Given the description of an element on the screen output the (x, y) to click on. 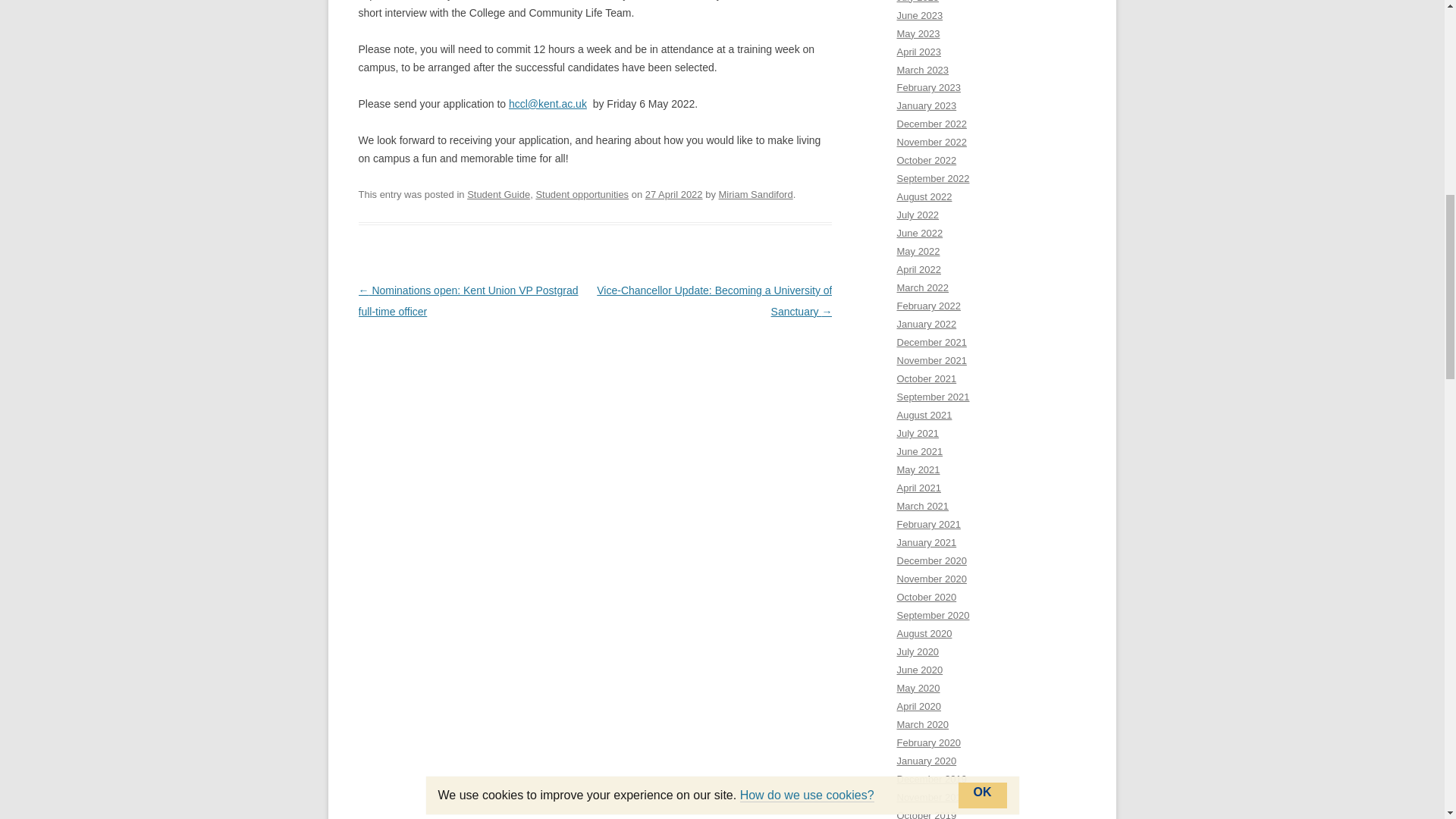
July 2023 (917, 1)
April 2023 (918, 51)
Student opportunities (581, 194)
27 April 2022 (674, 194)
June 2023 (919, 15)
March 2023 (922, 69)
View all posts by Miriam Sandiford (756, 194)
Student Guide (498, 194)
May 2023 (917, 33)
Miriam Sandiford (756, 194)
